Given the description of an element on the screen output the (x, y) to click on. 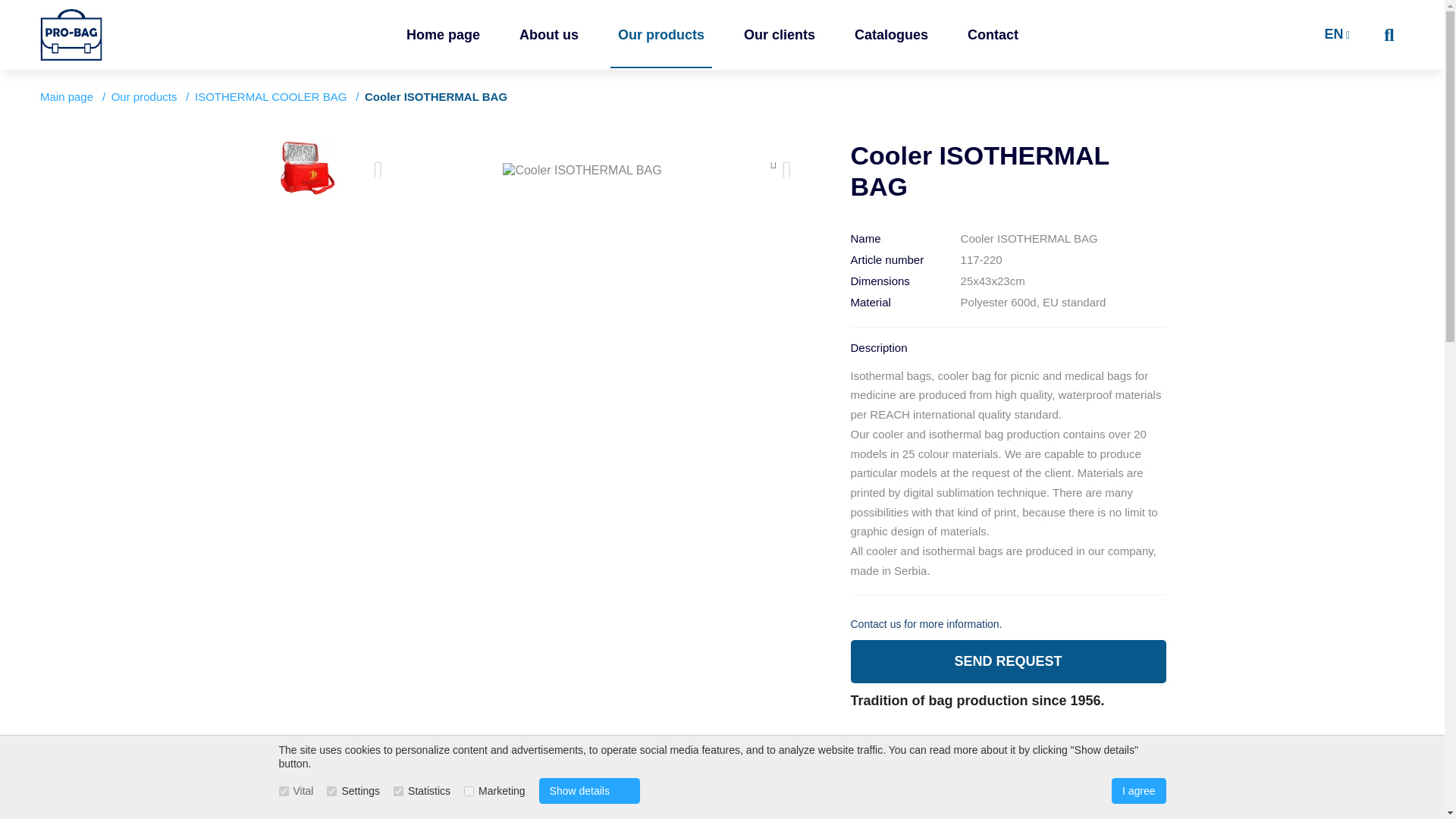
Our products (144, 97)
SEND REQUEST (1008, 661)
marketing (469, 790)
Our clients (779, 34)
ISOTHERMAL COOLER BAG (270, 97)
Home page (443, 34)
preferences (331, 790)
About us (548, 34)
necessary (283, 790)
statistics (398, 790)
Catalogues (891, 34)
Main page (66, 97)
Our products (660, 34)
Contact (992, 34)
